Given the description of an element on the screen output the (x, y) to click on. 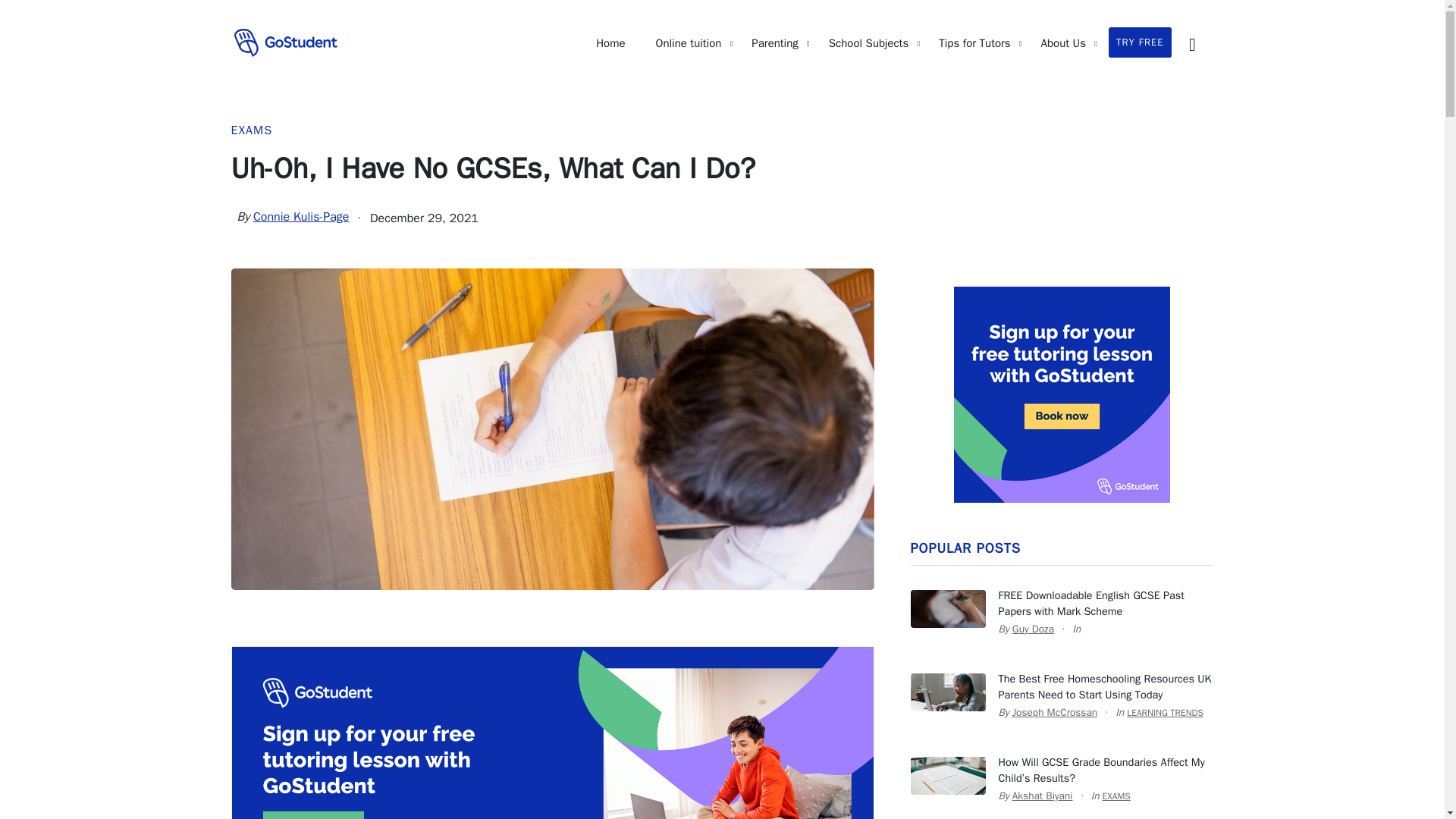
GoStudent (284, 42)
Online tuition (688, 43)
School Subjects (868, 43)
Home (610, 43)
Parenting (774, 43)
